Given the description of an element on the screen output the (x, y) to click on. 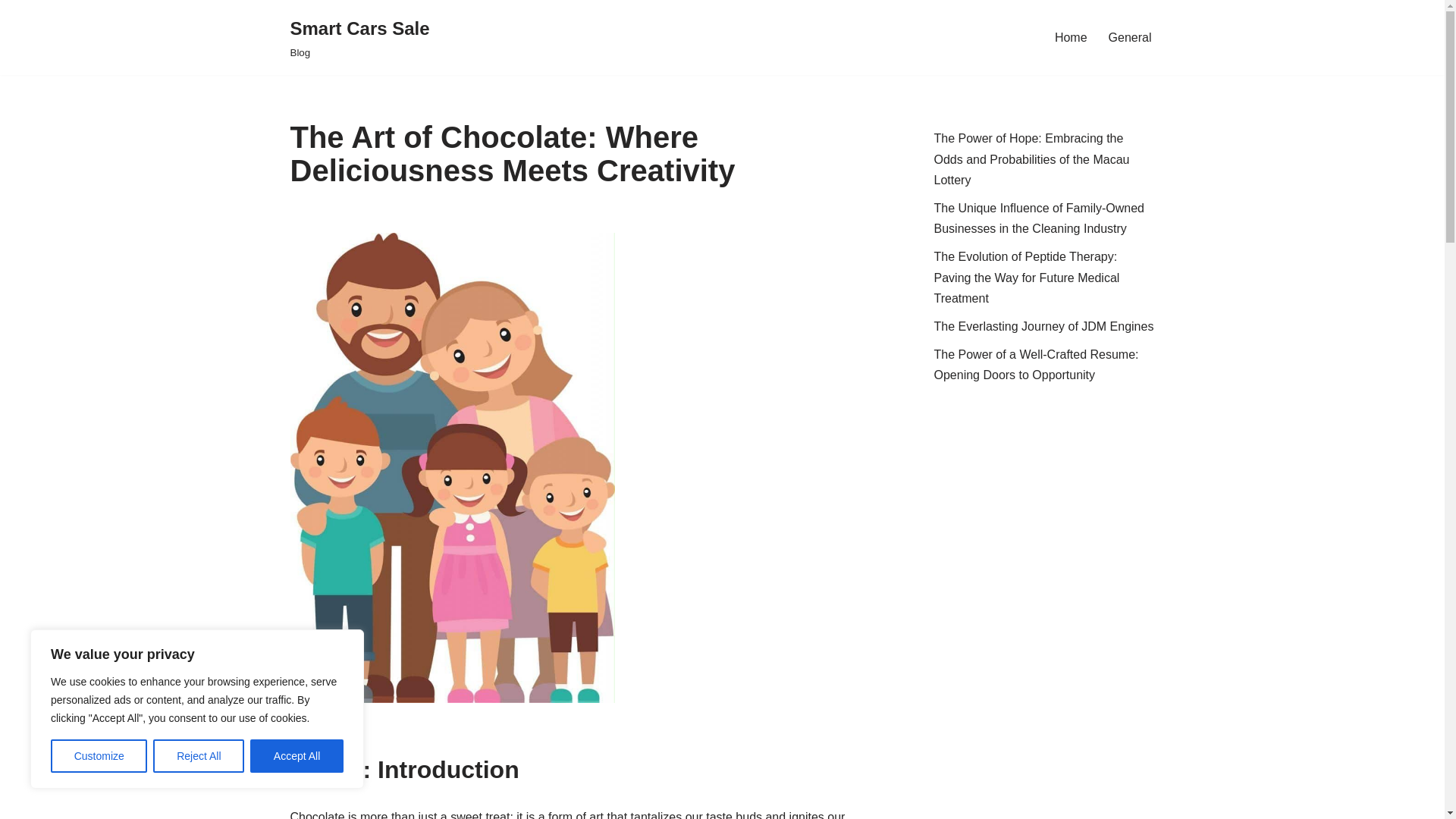
Reject All (198, 756)
Customize (98, 756)
The Everlasting Journey of JDM Engines (1044, 326)
General (1129, 37)
Accept All (359, 37)
Home (296, 756)
